Given the description of an element on the screen output the (x, y) to click on. 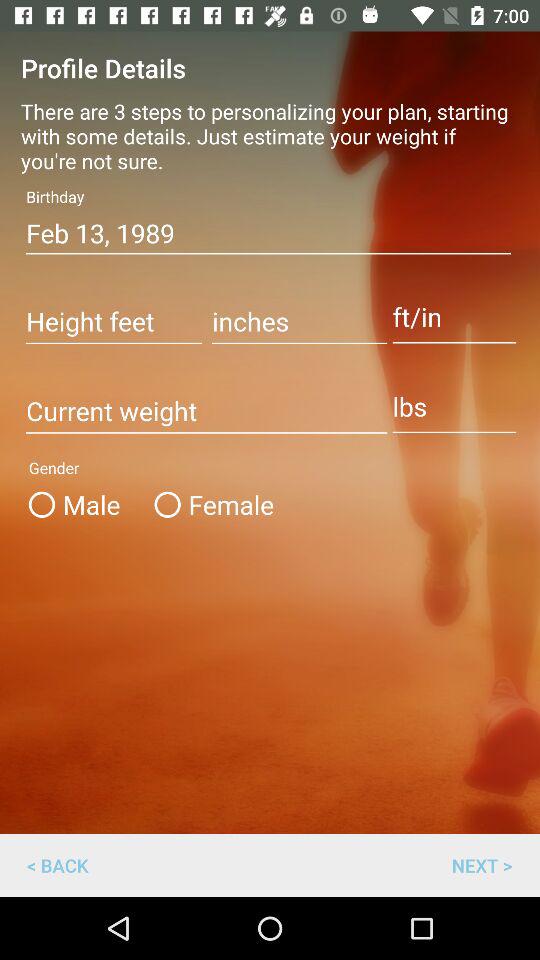
open the item below the gender (210, 504)
